Given the description of an element on the screen output the (x, y) to click on. 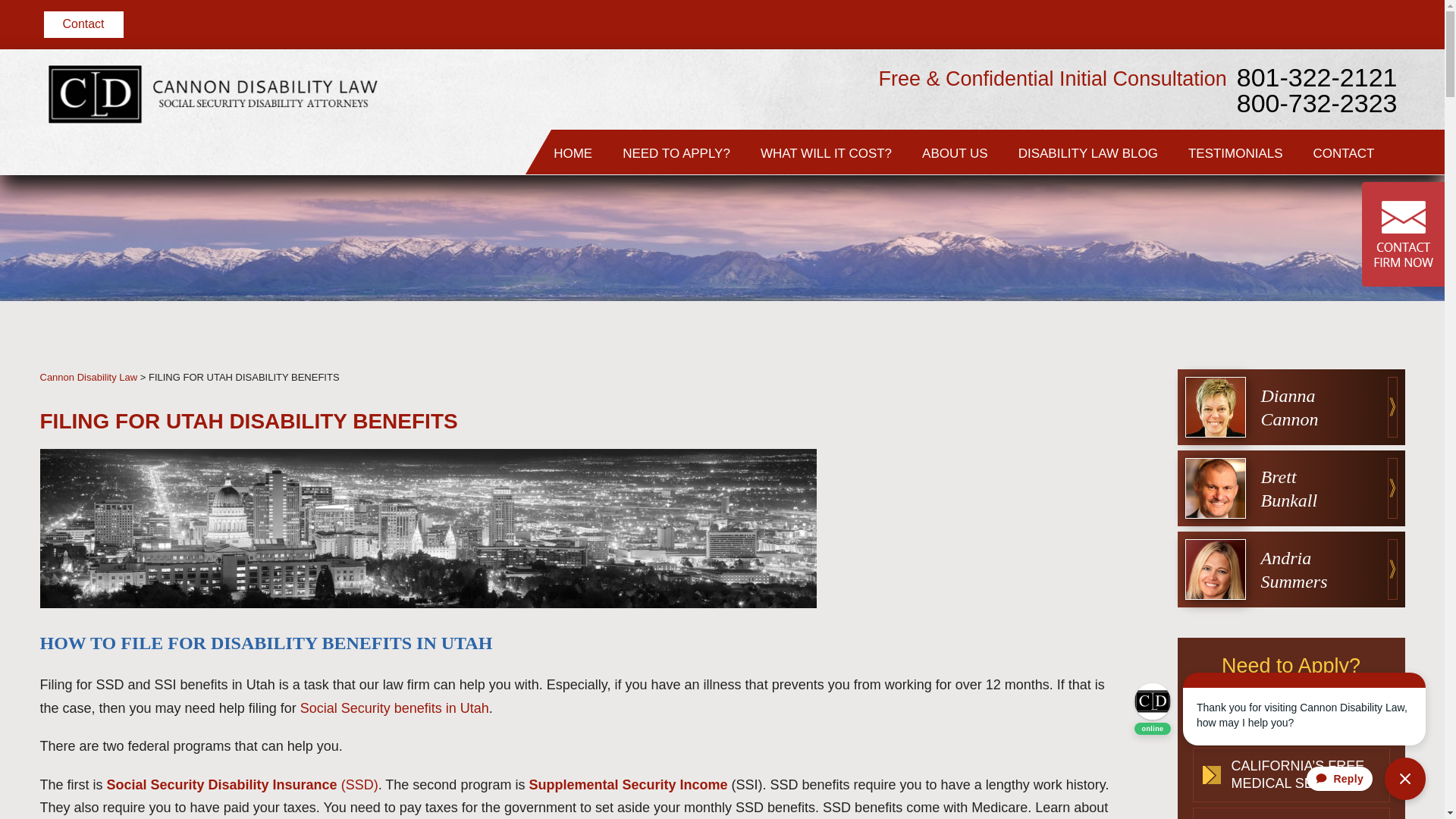
Contact (83, 24)
WHAT WILL IT COST? (826, 151)
Go to Cannon Disability Law. (87, 377)
HOME (572, 151)
801-322-2121 (1316, 122)
800-732-2323 (1316, 144)
NEED TO APPLY? (676, 151)
